Given the description of an element on the screen output the (x, y) to click on. 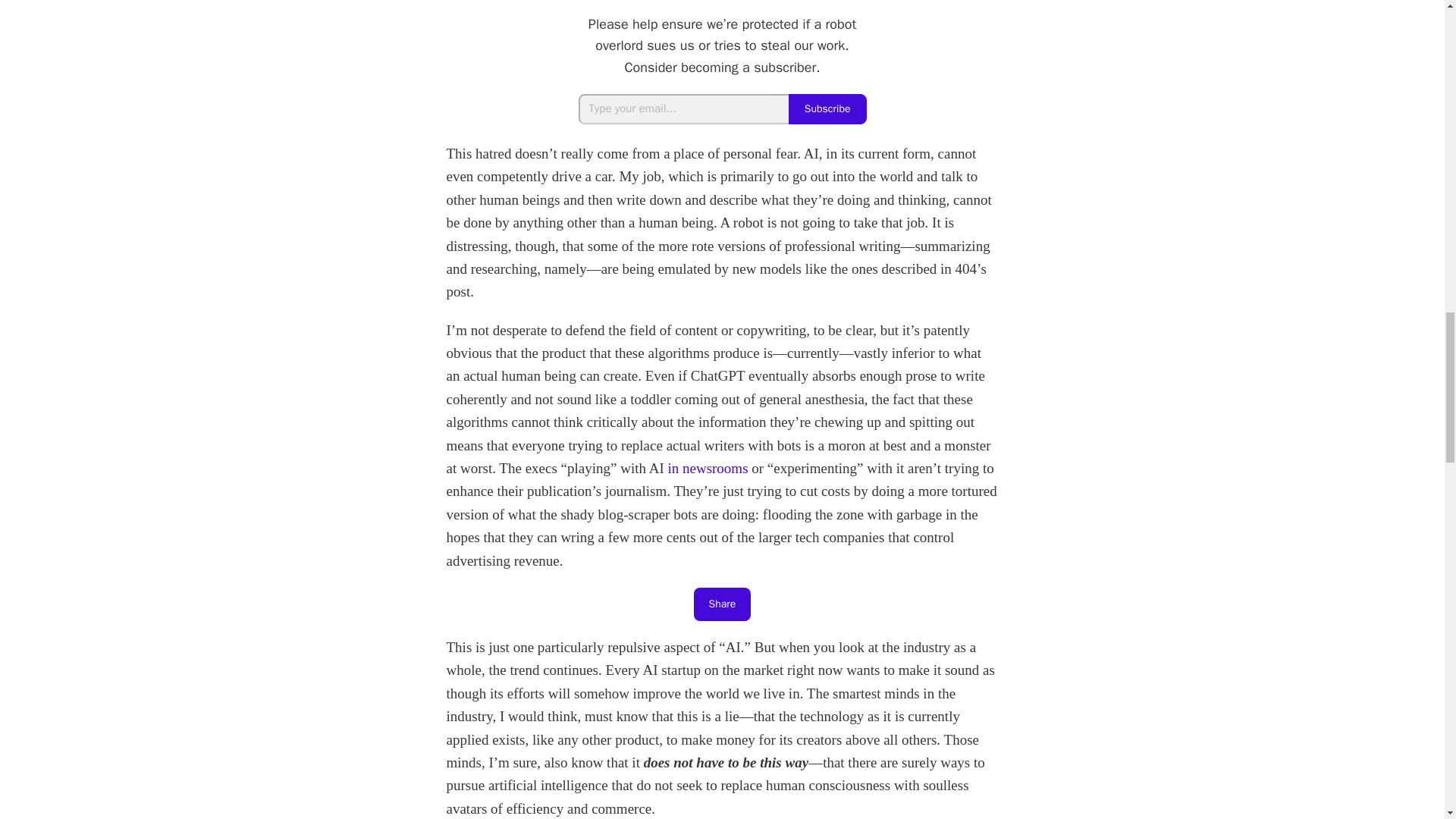
in newsrooms (707, 467)
Share (722, 604)
Subscribe (827, 109)
